Given the description of an element on the screen output the (x, y) to click on. 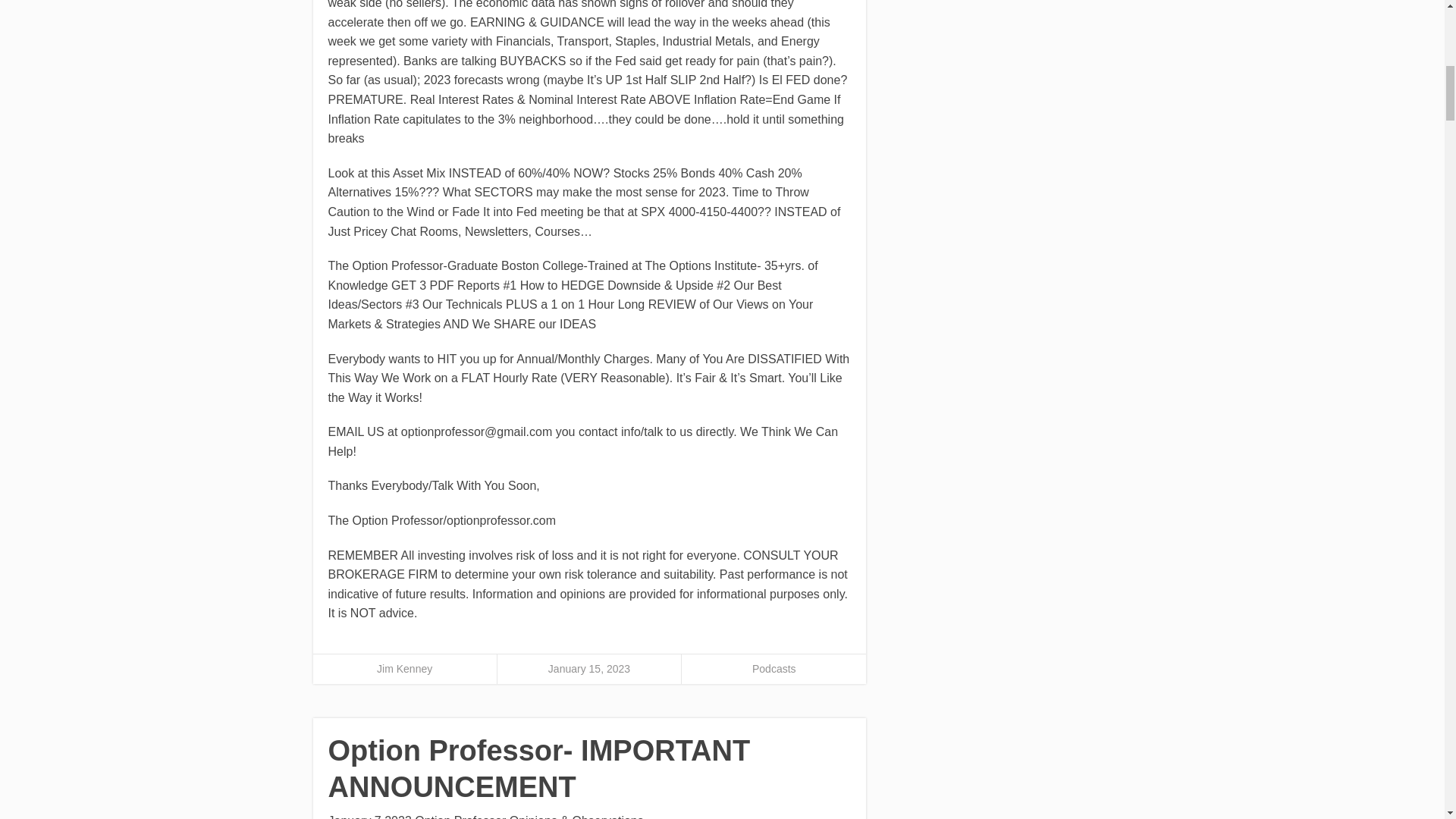
Podcasts (774, 668)
Jim Kenney (404, 668)
Option Professor- IMPORTANT ANNOUNCEMENT (538, 768)
